Given the description of an element on the screen output the (x, y) to click on. 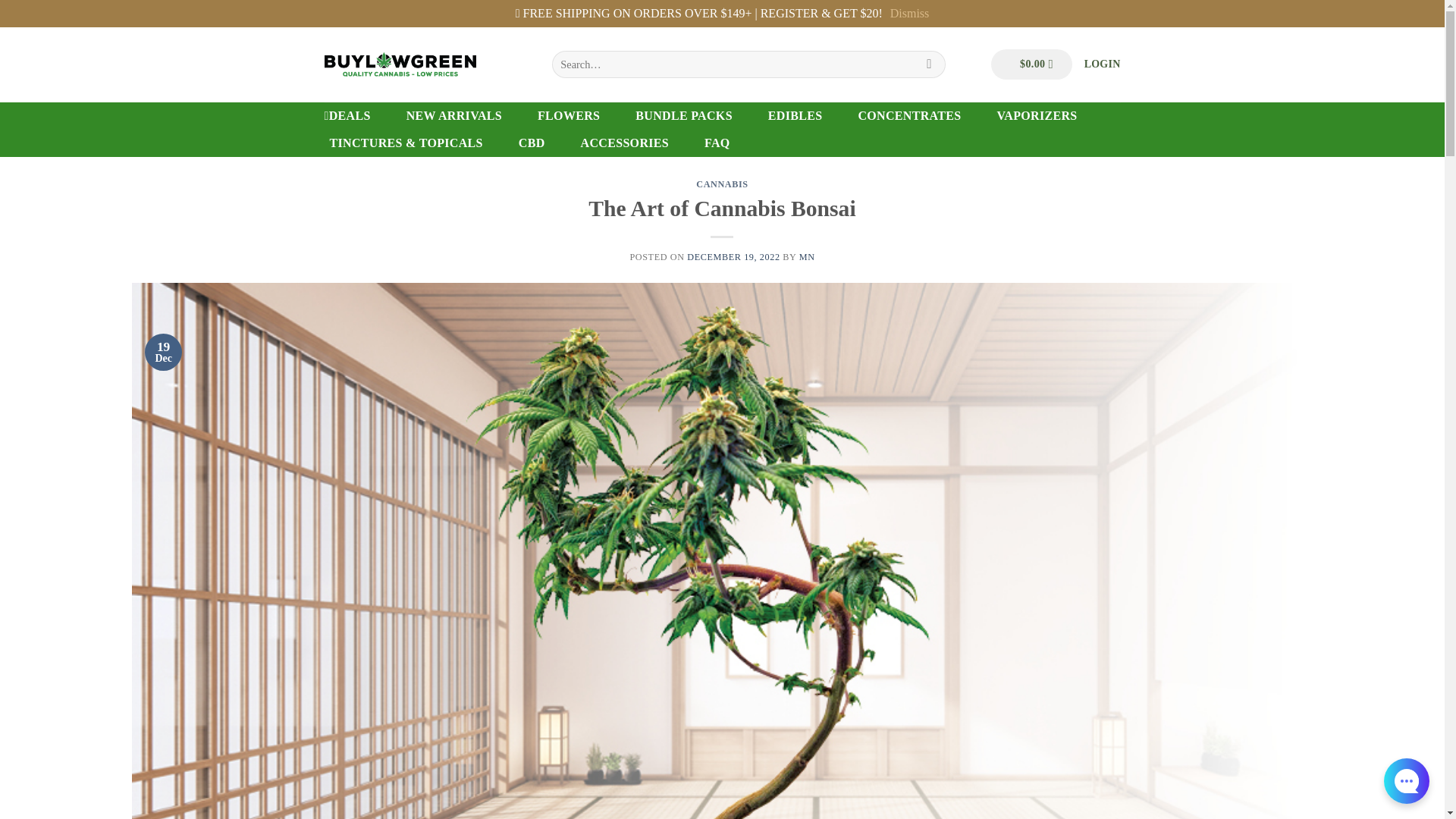
NEW ARRIVALS (454, 115)
EDIBLES (795, 115)
CONCENTRATES (908, 115)
LOGIN (1102, 63)
BUNDLE PACKS (683, 115)
FLOWERS (568, 115)
Search (929, 64)
Dismiss (909, 13)
Cart (1031, 64)
